Given the description of an element on the screen output the (x, y) to click on. 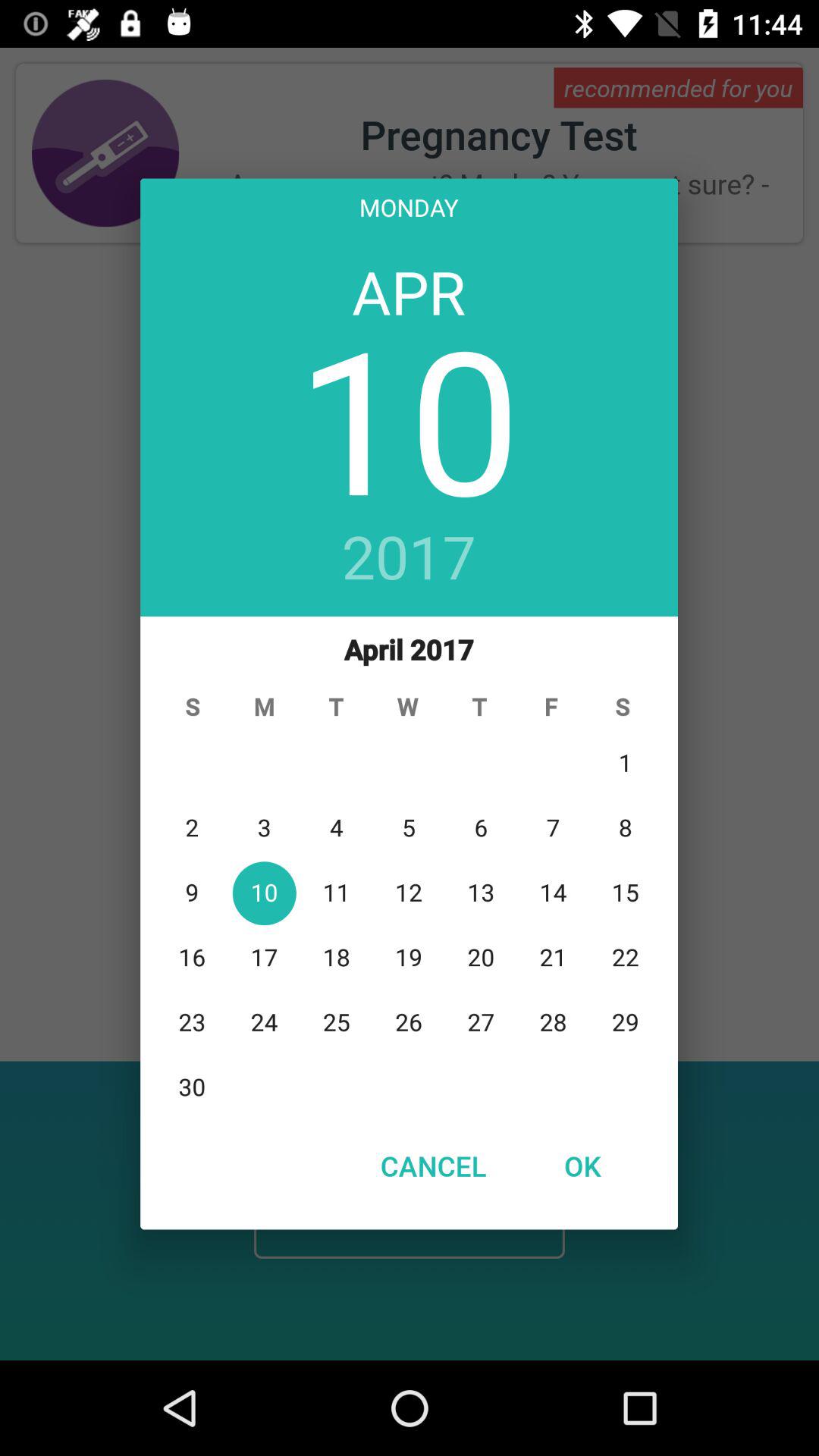
turn off the cancel item (433, 1165)
